Given the description of an element on the screen output the (x, y) to click on. 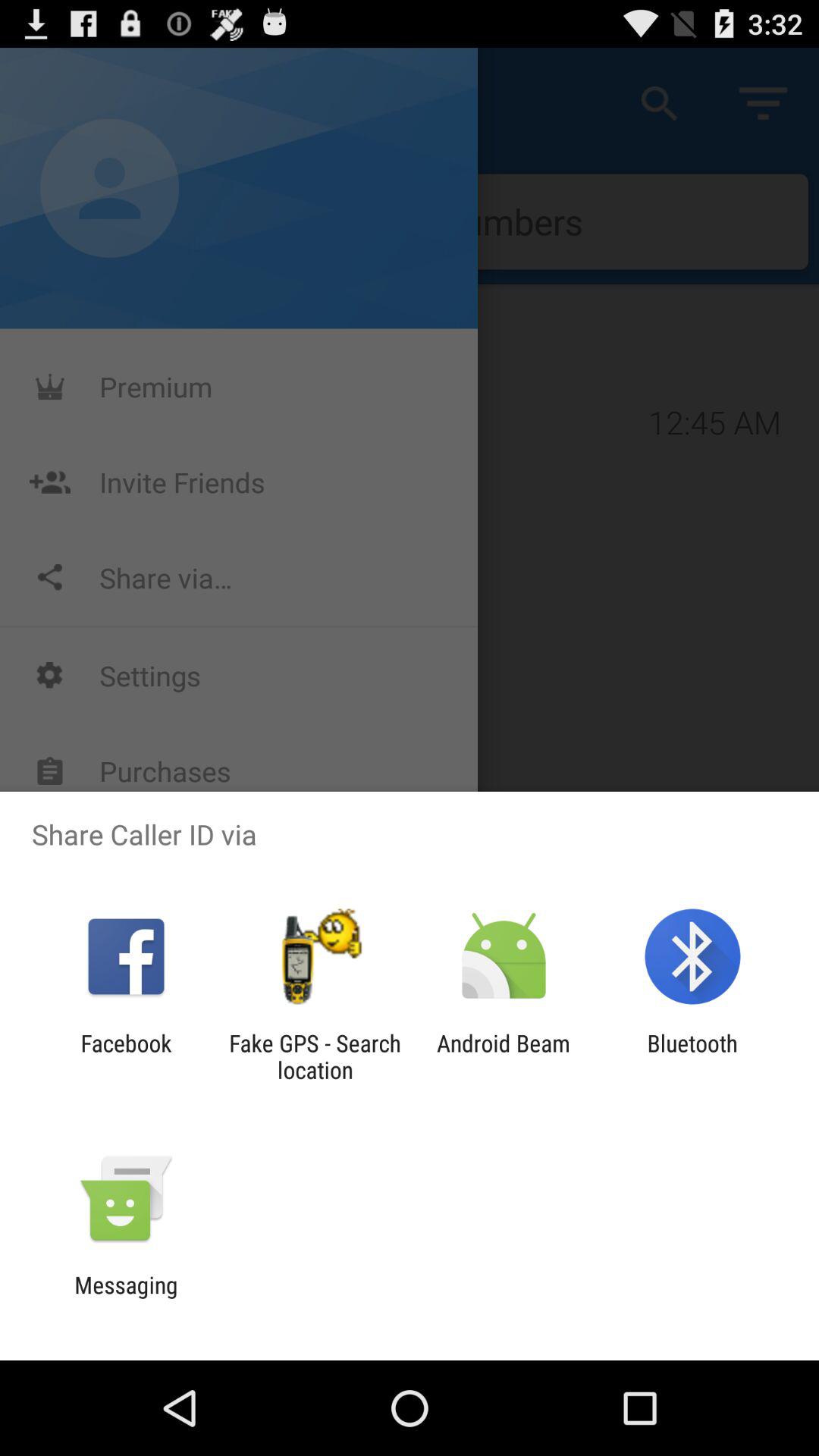
open the android beam icon (503, 1056)
